Given the description of an element on the screen output the (x, y) to click on. 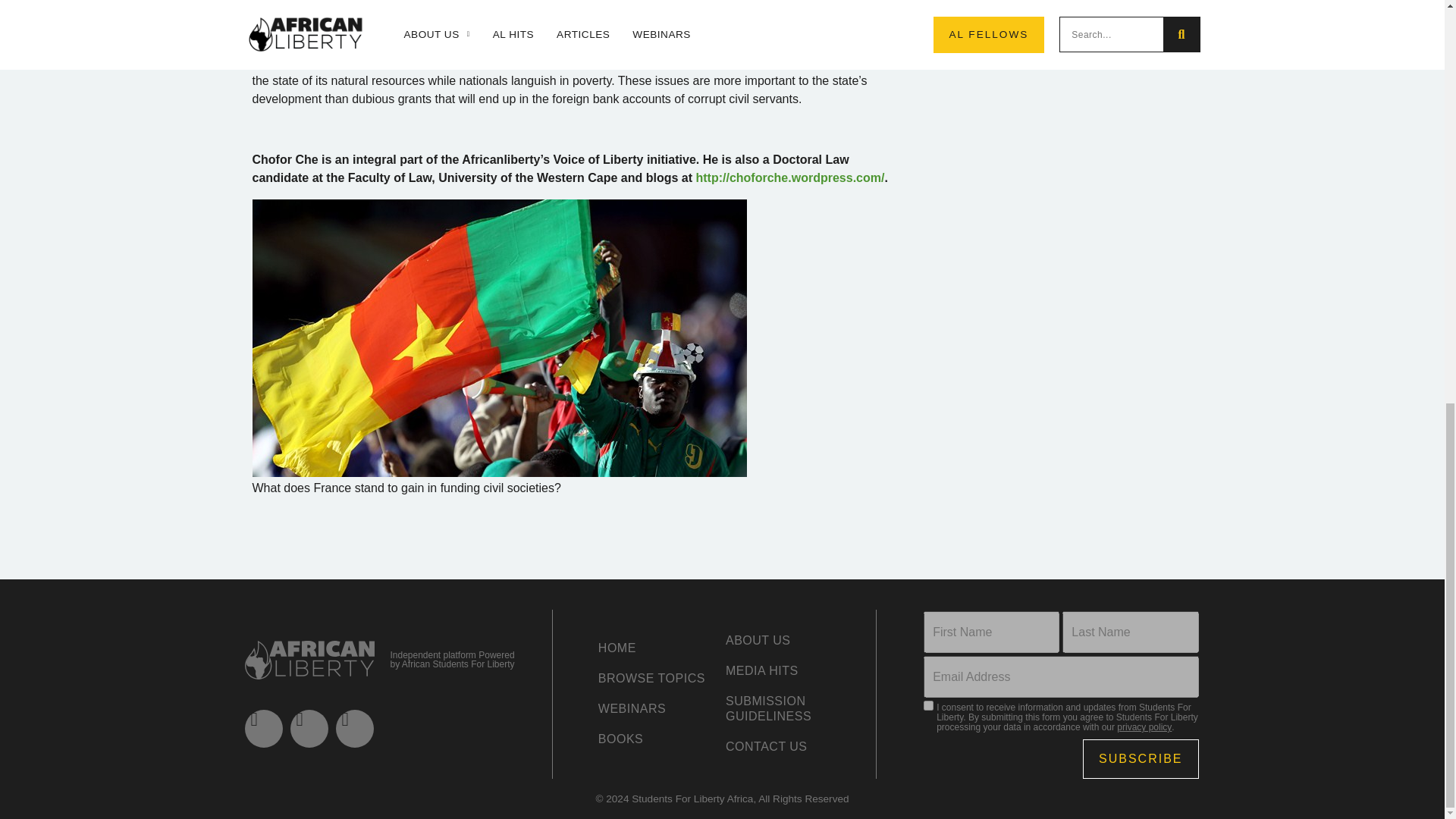
Last Name (1130, 631)
First Name (991, 631)
Email (1060, 676)
Subscribe (1140, 758)
